Given the description of an element on the screen output the (x, y) to click on. 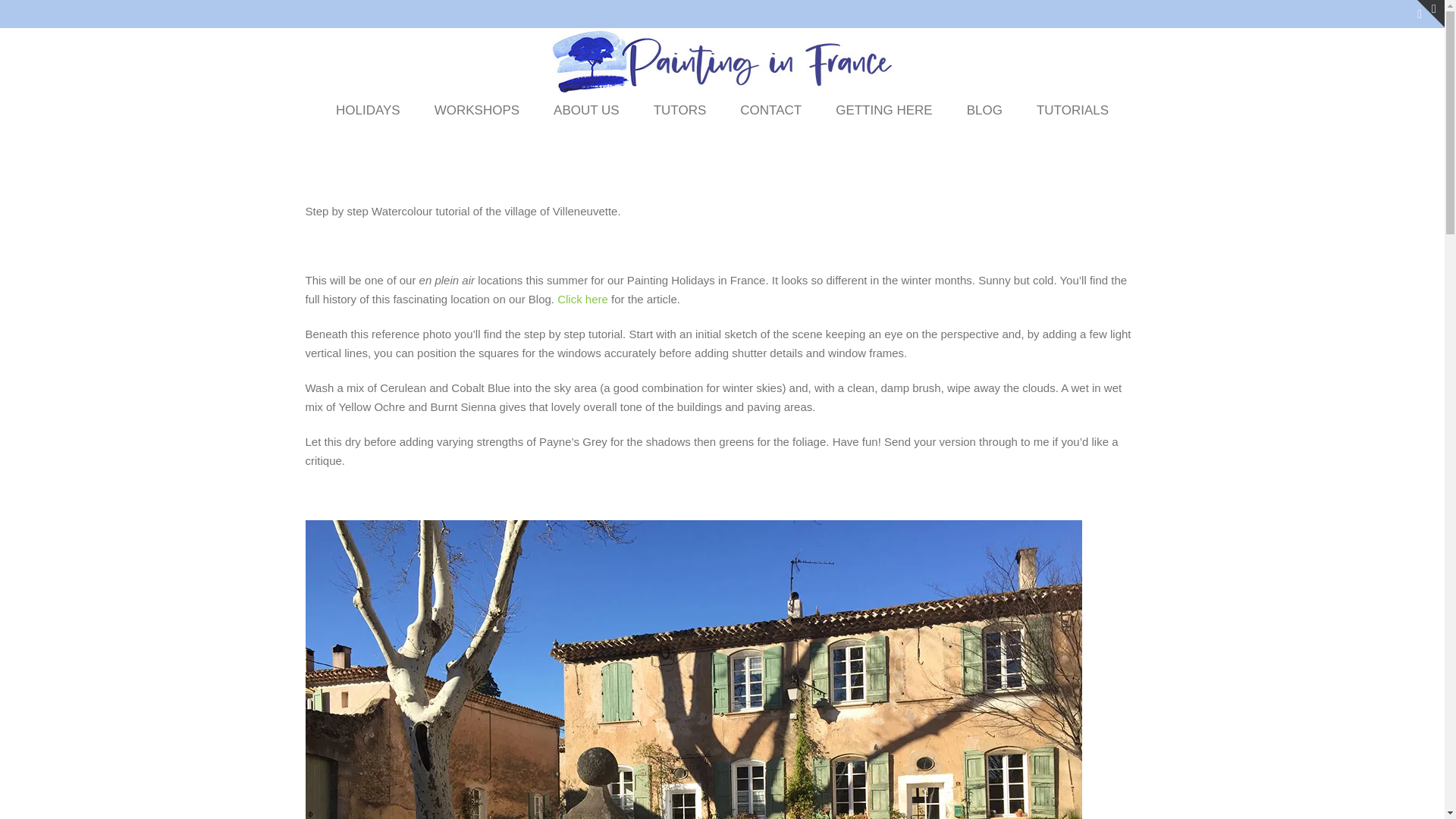
CONTACT (770, 109)
BLOG (984, 109)
ABOUT US (586, 109)
GETTING HERE (884, 109)
HOLIDAYS (368, 109)
TUTORS (679, 109)
Click here (582, 298)
WORKSHOPS (476, 109)
TUTORIALS (1072, 109)
